Given the description of an element on the screen output the (x, y) to click on. 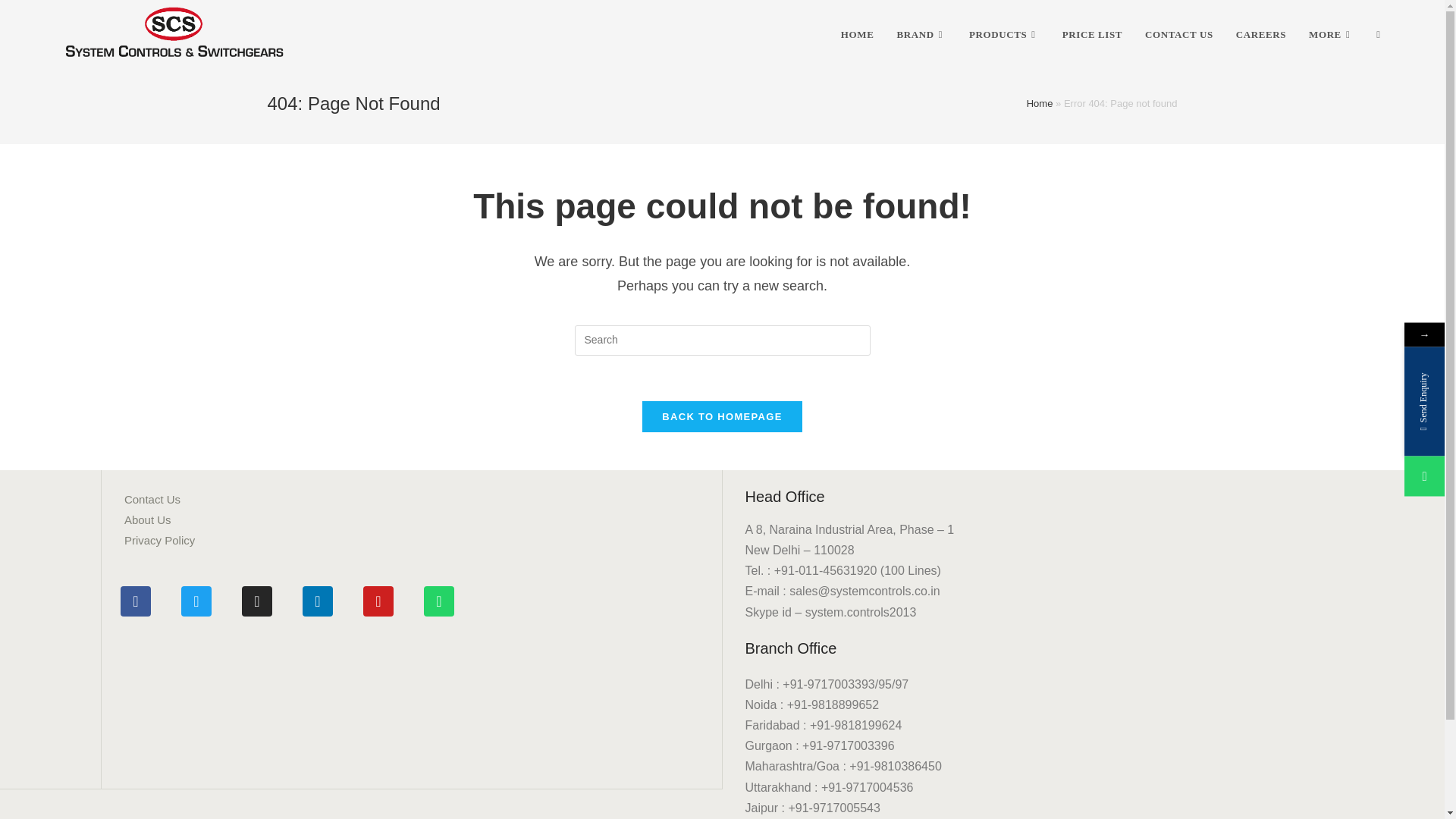
BRAND (921, 34)
HOME (857, 34)
